Given the description of an element on the screen output the (x, y) to click on. 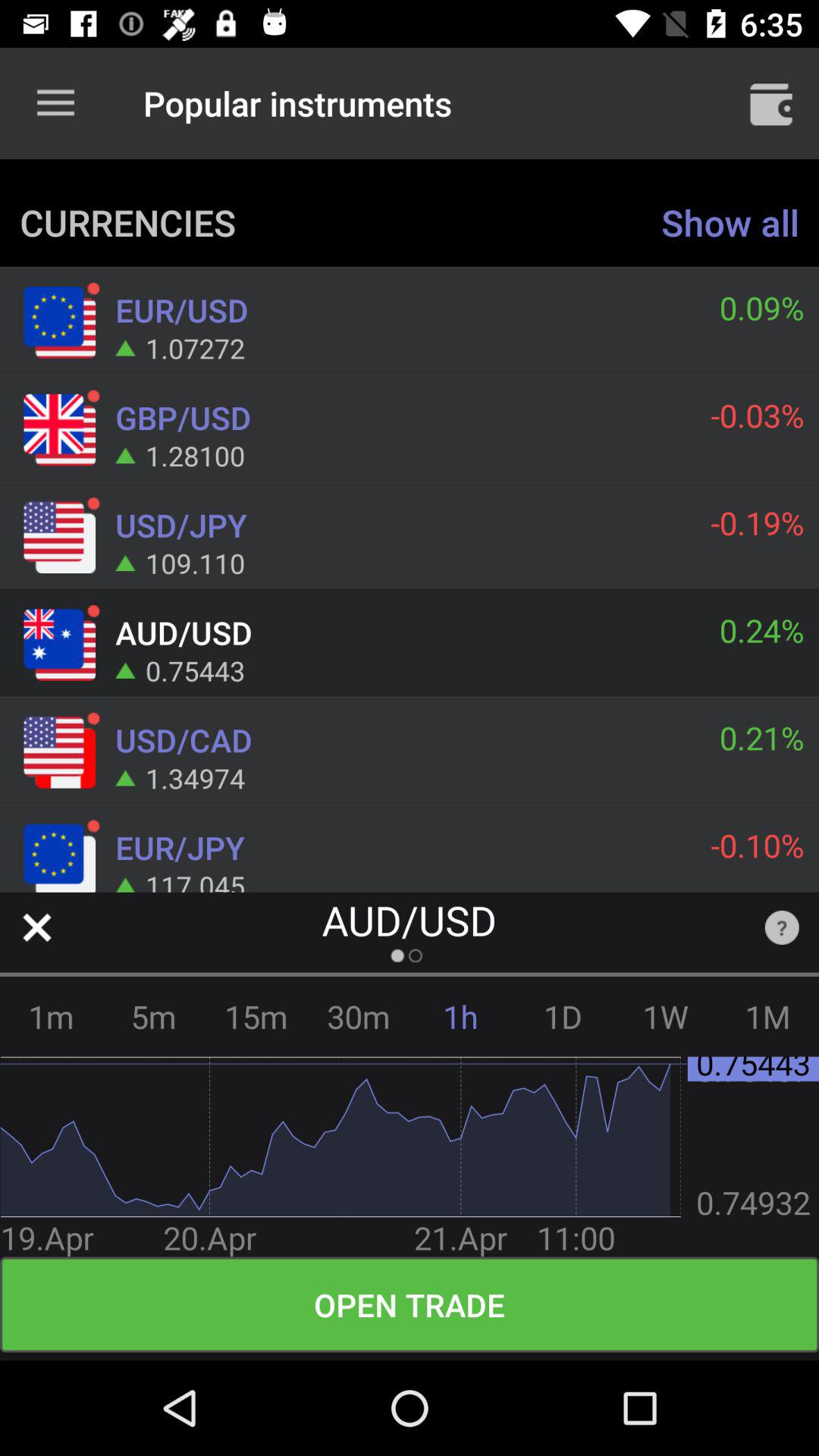
bring up help (781, 927)
